Given the description of an element on the screen output the (x, y) to click on. 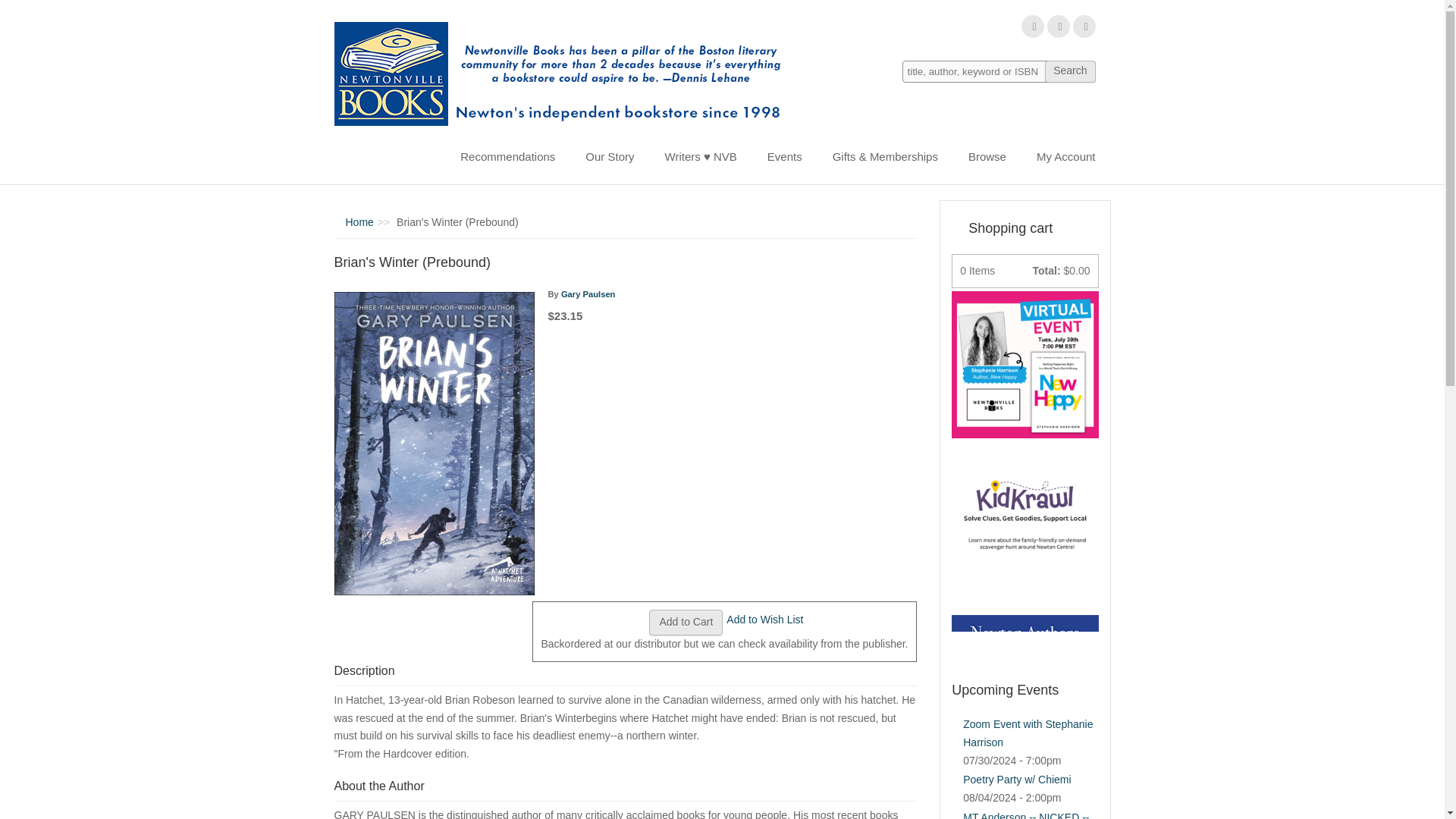
Home (562, 74)
Our Story (609, 156)
Add to Cart (685, 622)
Search (1069, 71)
Recommendations (507, 156)
Add to Wish List (764, 619)
Search (1069, 71)
Browse (987, 156)
Gary Paulsen (587, 293)
Enter the terms you wish to search for. (999, 71)
Add to Cart (685, 622)
View your shopping cart. (957, 227)
Events (784, 156)
Home (360, 222)
